Given the description of an element on the screen output the (x, y) to click on. 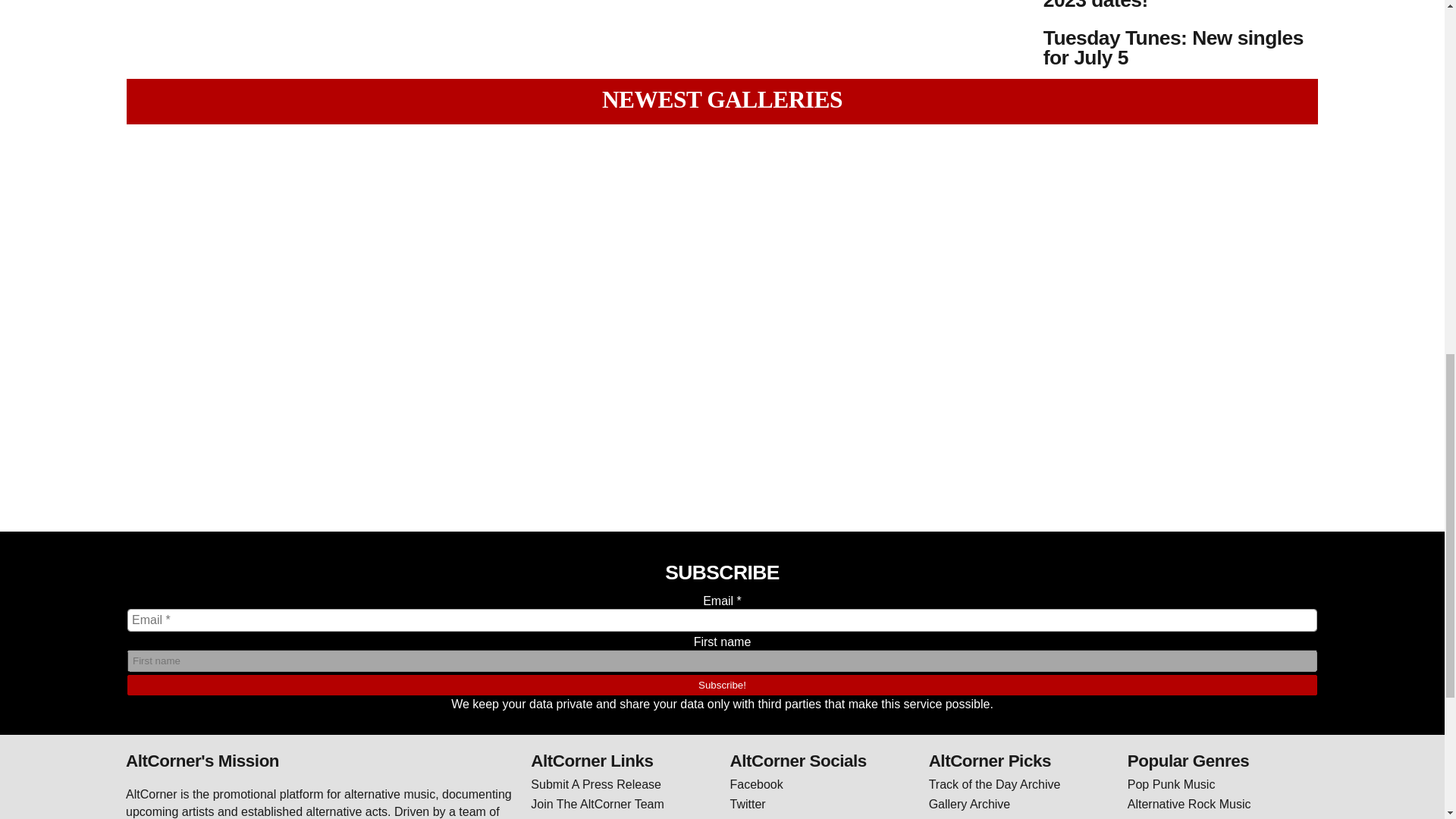
Email (722, 620)
Subscribe! (722, 684)
First name (722, 660)
Search (94, 4)
